Given the description of an element on the screen output the (x, y) to click on. 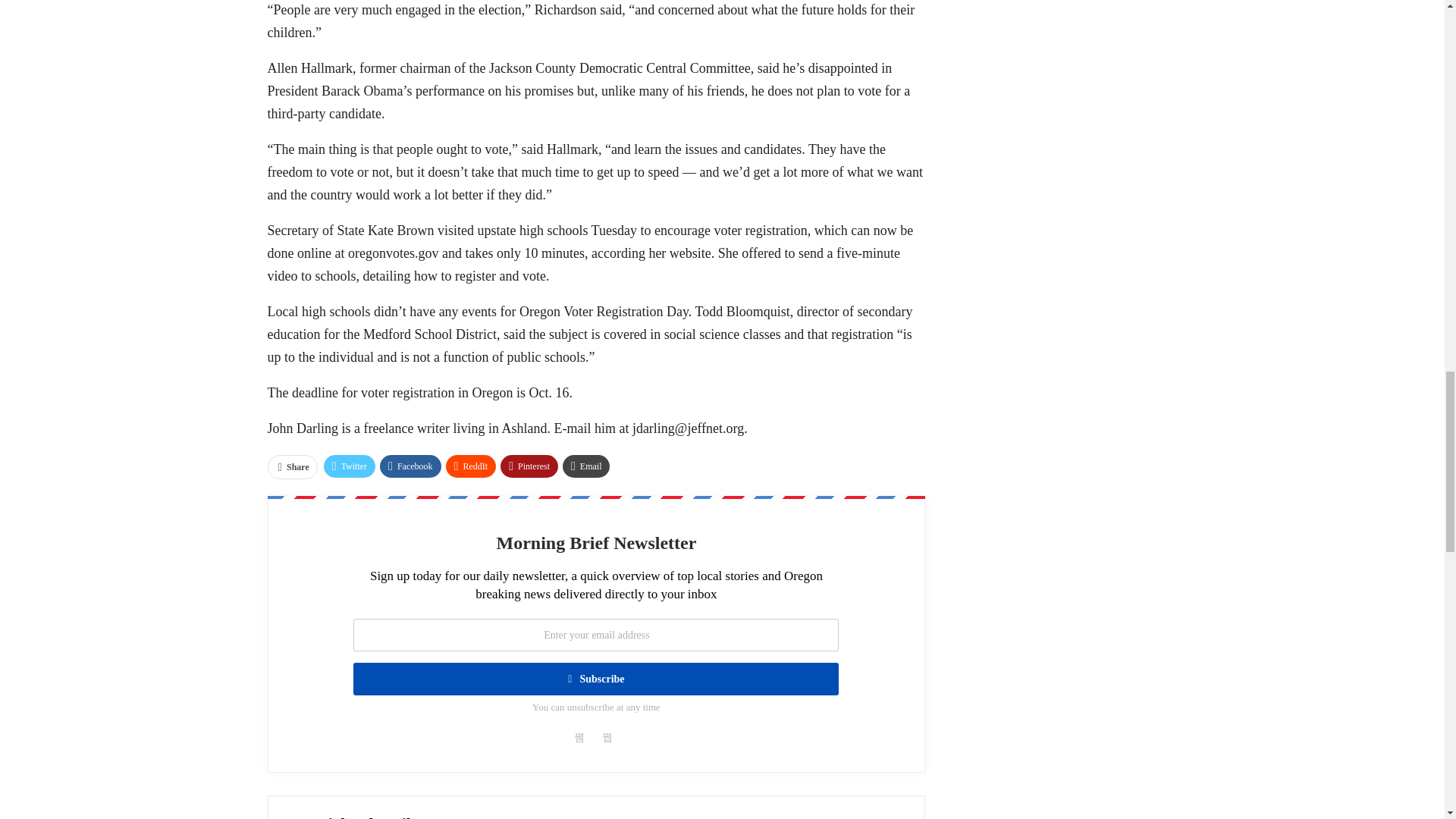
Subscribe (595, 678)
Facebook (410, 466)
Email (586, 466)
Pinterest (528, 466)
Twitter (349, 466)
ReddIt (470, 466)
